Given the description of an element on the screen output the (x, y) to click on. 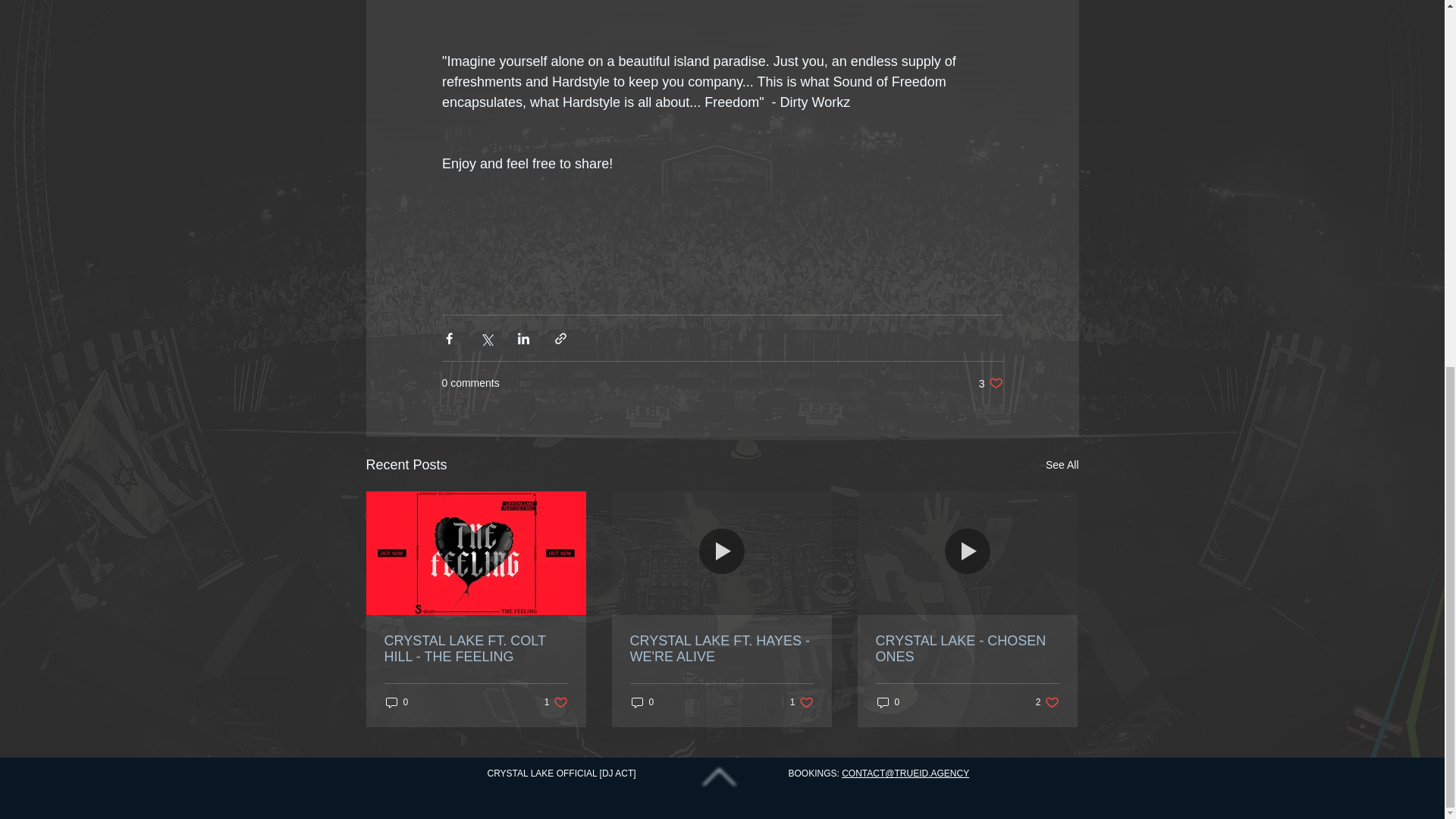
0 (801, 702)
0 (888, 702)
CRYSTAL LAKE FT. COLT HILL - THE FEELING (641, 702)
CRYSTAL LAKE FT. HAYES - WE'RE ALIVE (475, 649)
See All (720, 649)
0 (1061, 464)
CRYSTAL LAKE - CHOSEN ONES (1047, 702)
